Given the description of an element on the screen output the (x, y) to click on. 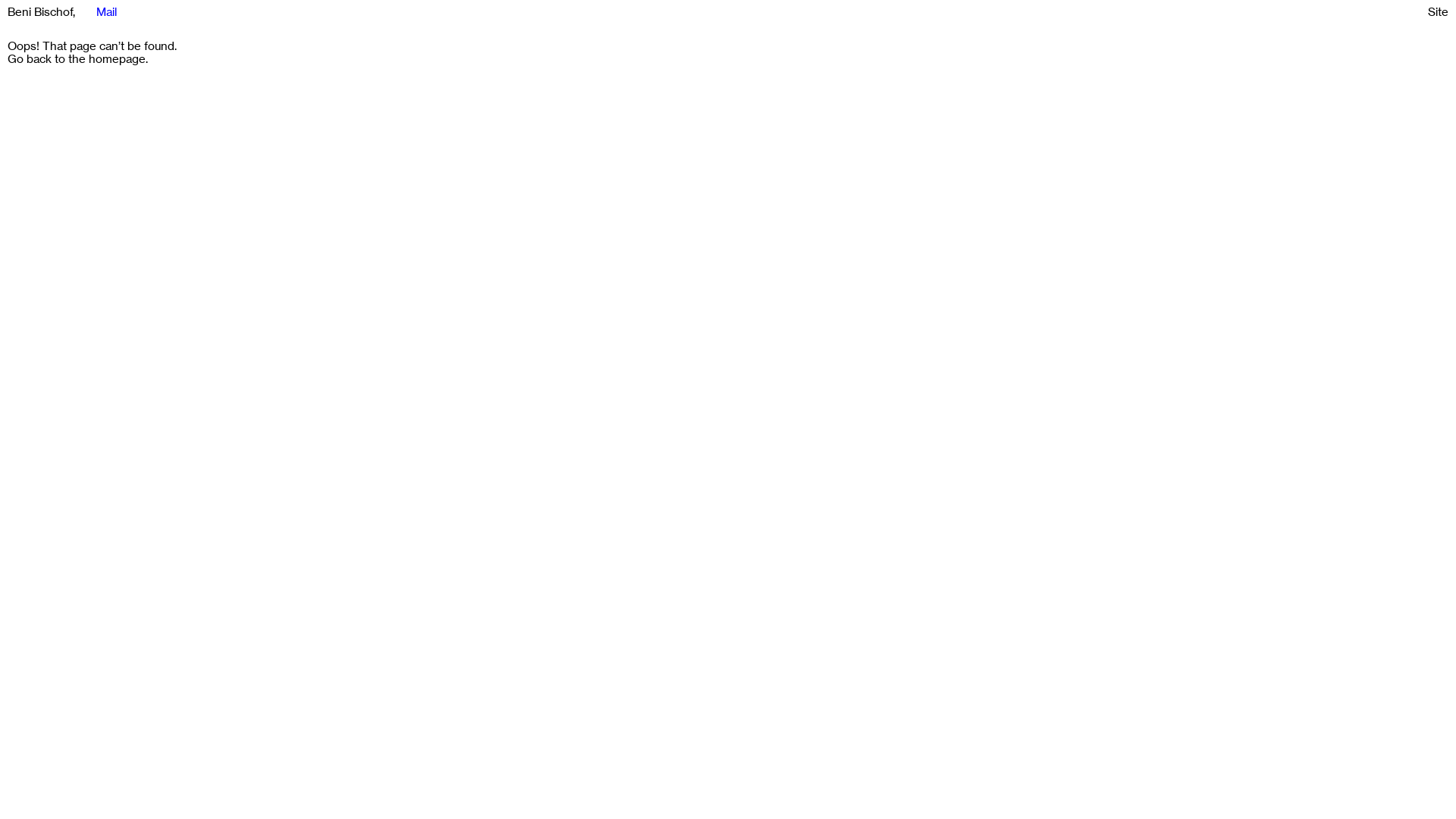
homepage Element type: text (116, 58)
Beni Bischof Element type: text (39, 11)
